Given the description of an element on the screen output the (x, y) to click on. 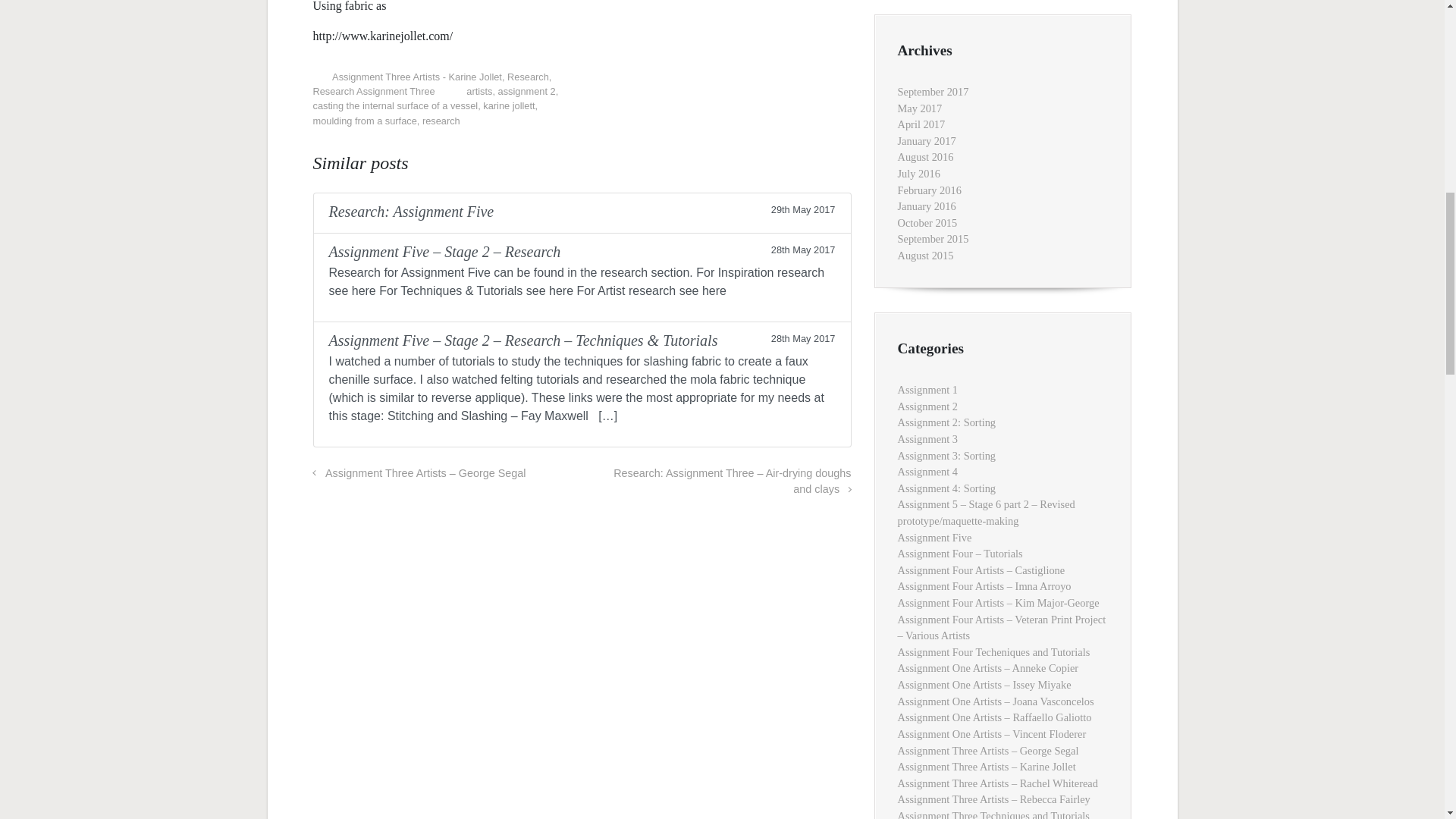
Share on Twitter (755, 80)
Share on Facebook (777, 80)
Share on Pinterest (799, 80)
Permanent Link to Research: Assignment Five (581, 212)
Share by Email (822, 80)
